Given the description of an element on the screen output the (x, y) to click on. 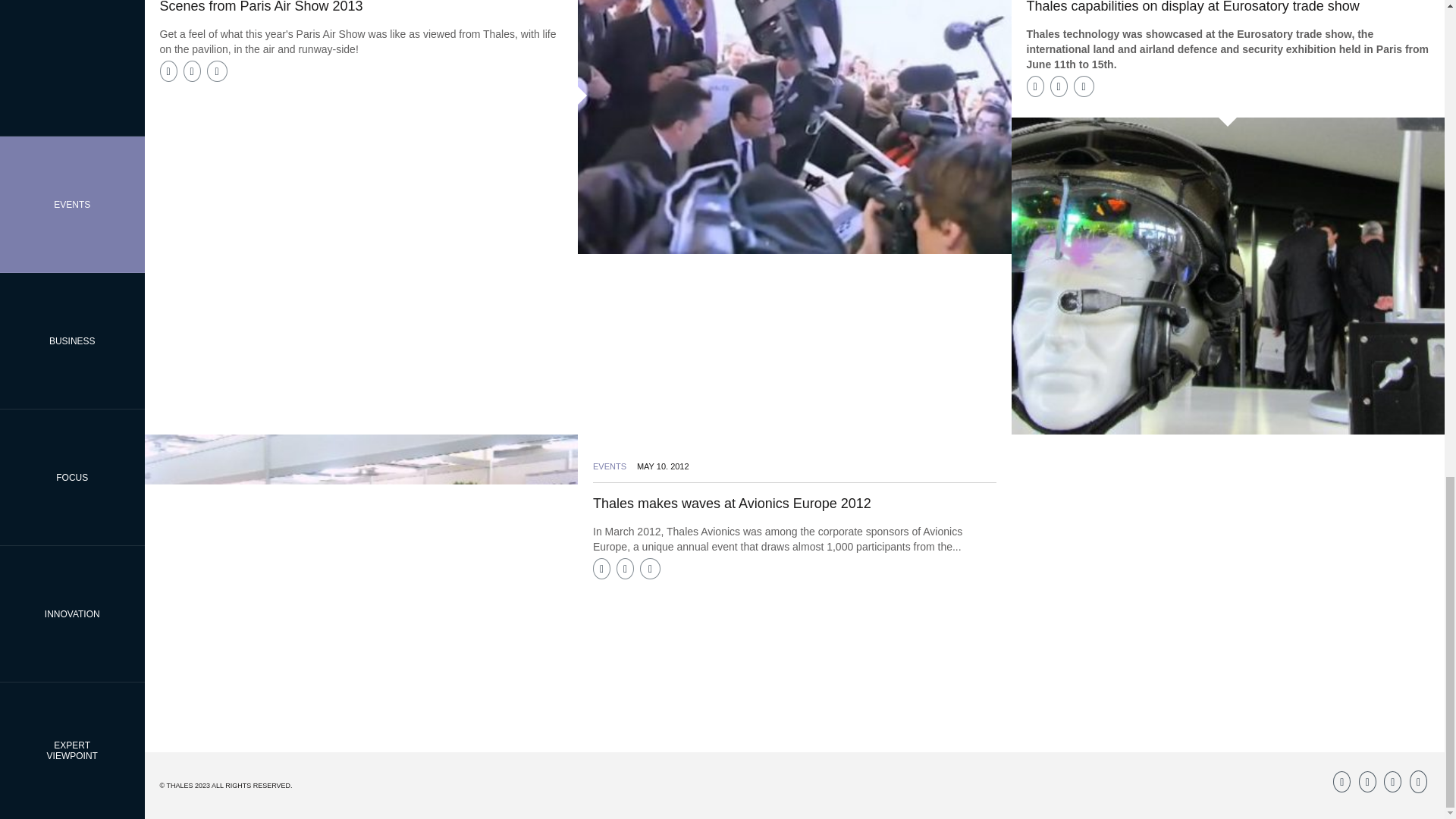
Scenes from Paris Air Show 2013 (260, 6)
